Given the description of an element on the screen output the (x, y) to click on. 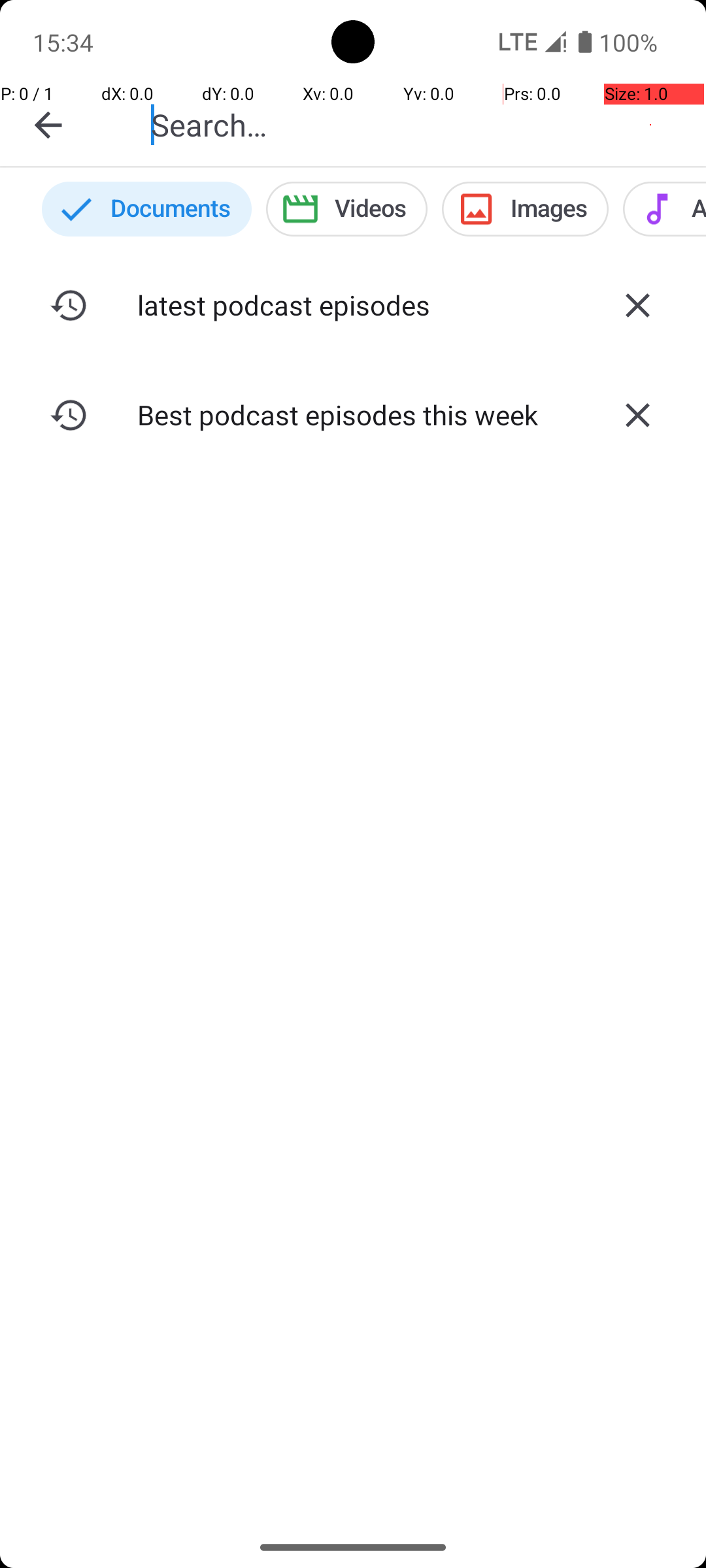
latest podcast episodes Element type: android.widget.TextView (352, 304)
Delete search history latest podcast episodes Element type: android.widget.ImageView (637, 304)
Best podcast episodes this week Element type: android.widget.TextView (352, 414)
Delete search history Best podcast episodes this week Element type: android.widget.ImageView (637, 414)
